Given the description of an element on the screen output the (x, y) to click on. 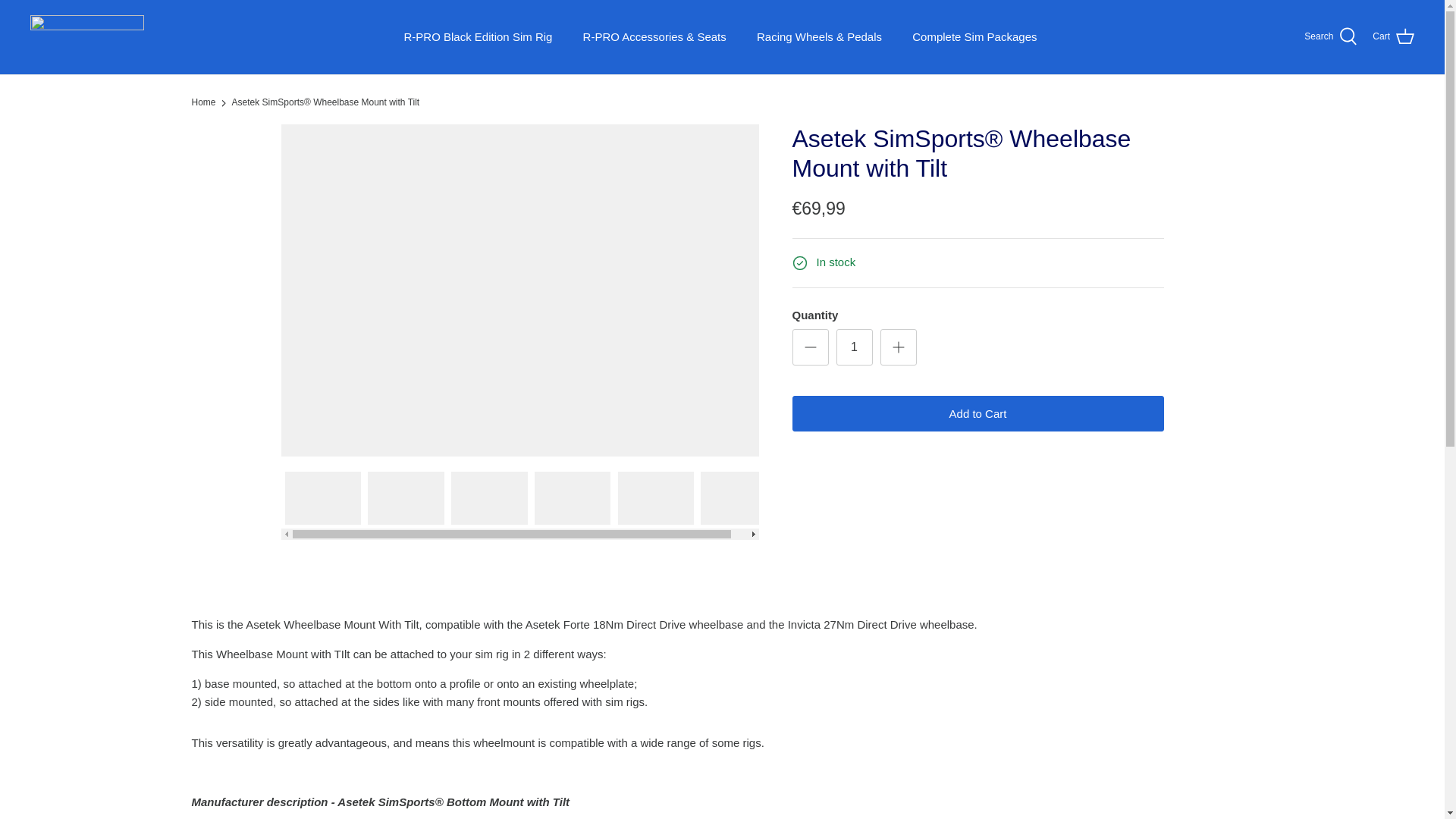
R-PRO Black Edition Sim Rig (478, 37)
Plus (897, 347)
Minus (809, 347)
Cart (1393, 36)
1 (853, 347)
Upshift (87, 36)
Search (1330, 36)
Complete Sim Packages (973, 37)
